Given the description of an element on the screen output the (x, y) to click on. 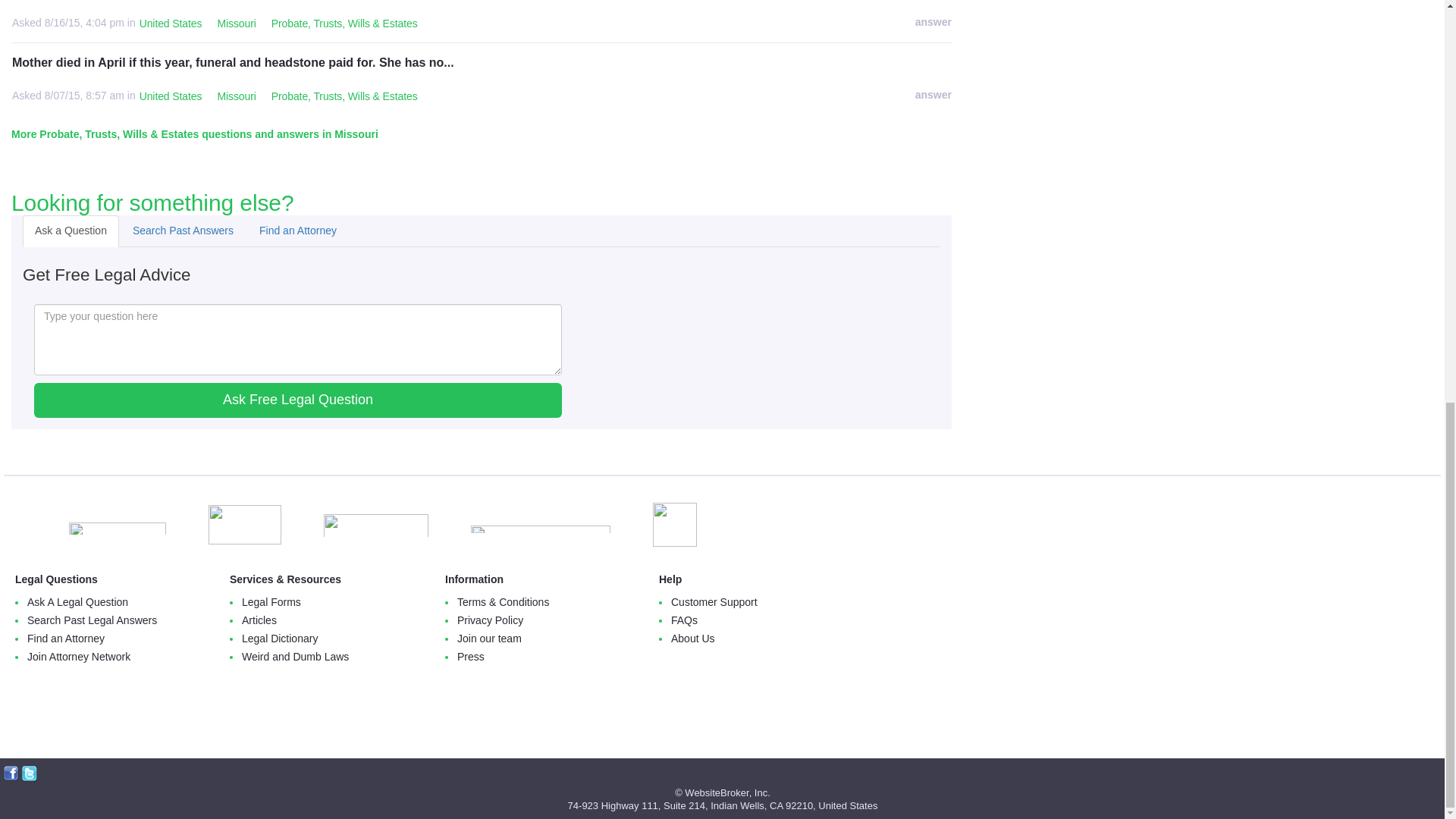
Like LawGuru on Facebook (11, 773)
Like LawGuru on Twitter (29, 773)
United States (170, 23)
